Given the description of an element on the screen output the (x, y) to click on. 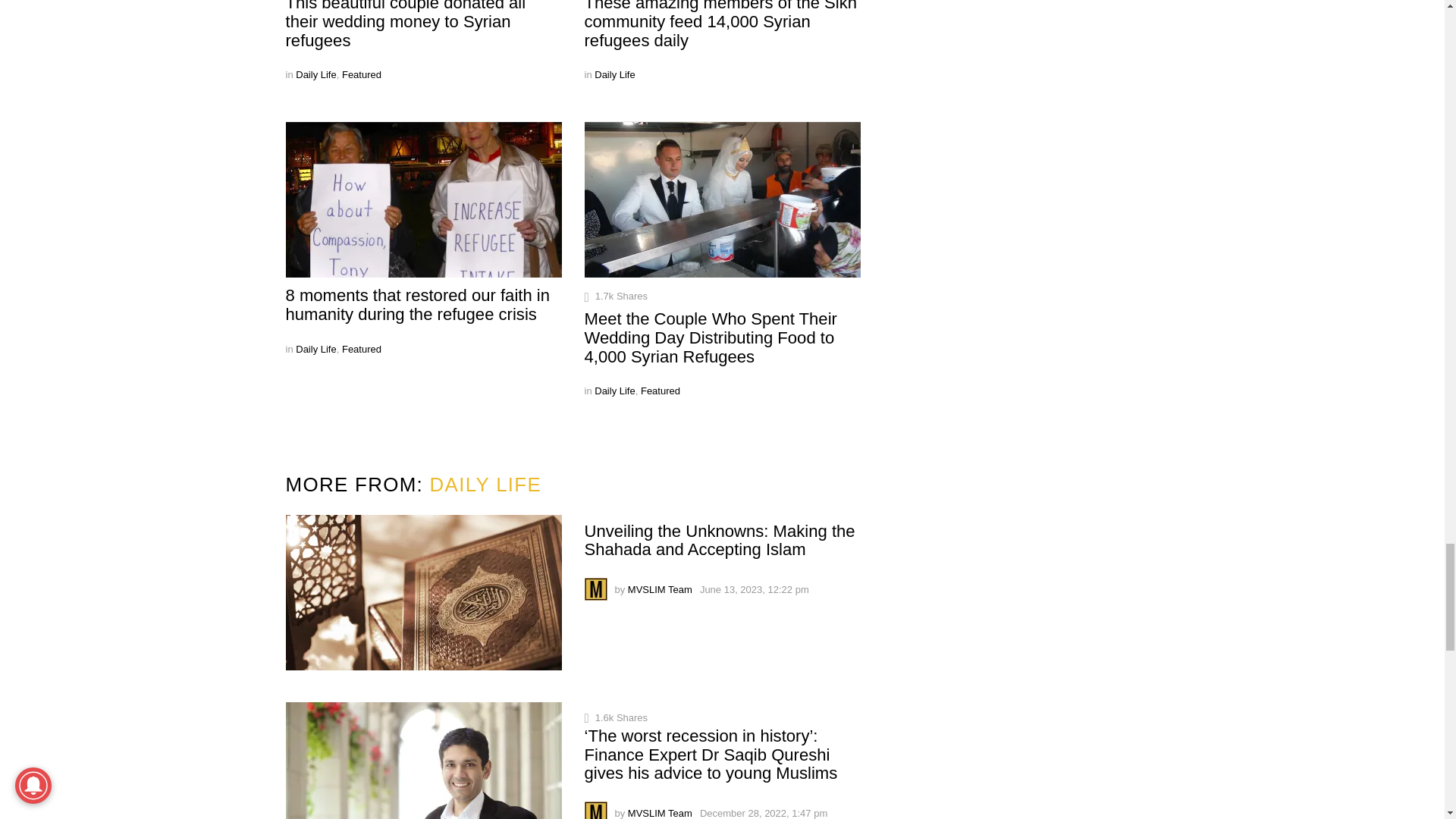
June 13, 2023, 12:22 pm (754, 589)
Posts by MVSLIM Team (660, 813)
Posts by MVSLIM Team (660, 589)
December 28, 2022, 1:47 pm (763, 813)
